Given the description of an element on the screen output the (x, y) to click on. 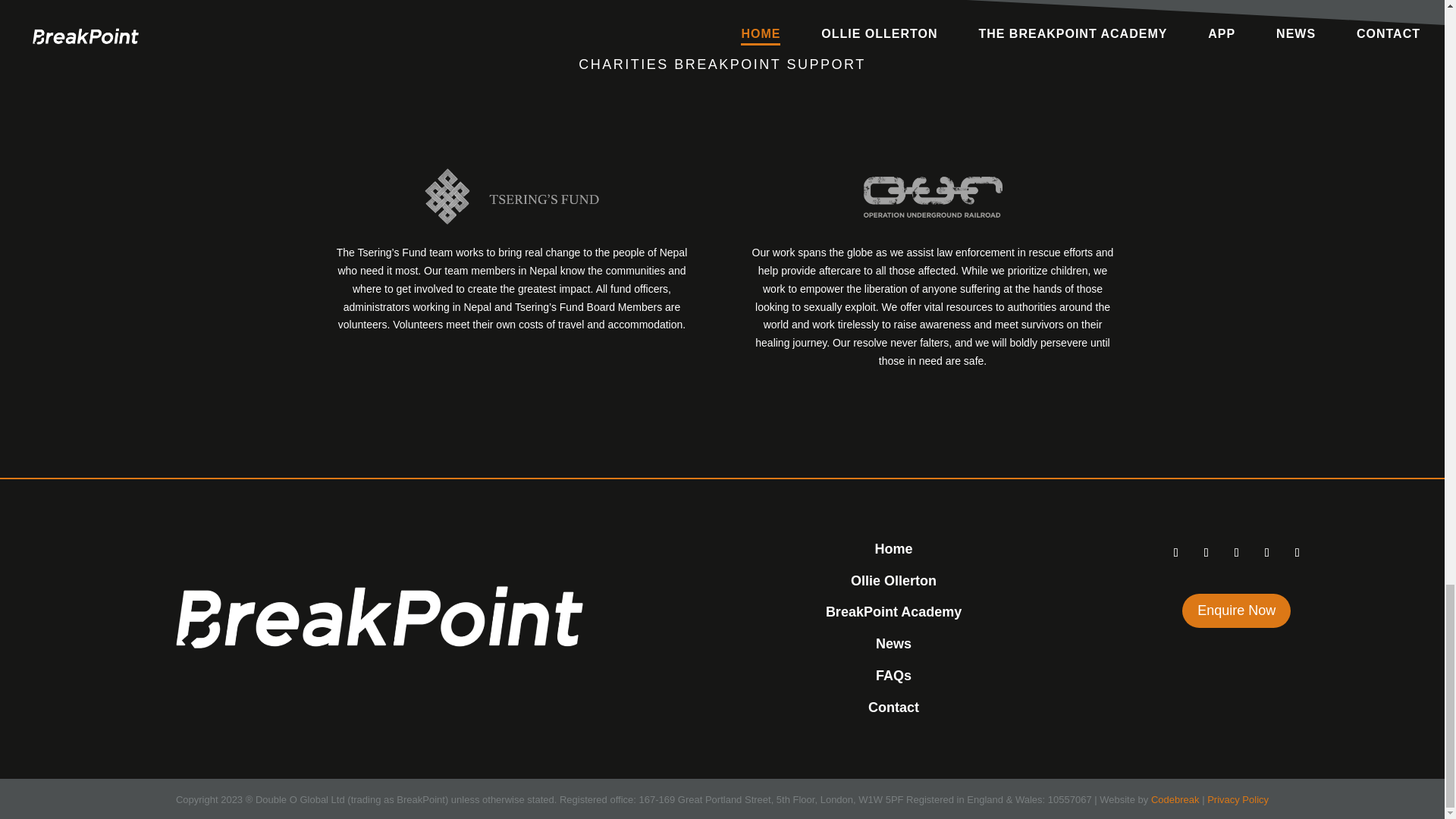
FAQs (893, 675)
Privacy Policy (1237, 799)
Contact (892, 707)
Follow on LinkedIn (1296, 552)
Codebreak (1175, 799)
Follow on Instagram (1236, 552)
Home (893, 548)
News (893, 643)
BreakPoint Academy (892, 611)
Follow on Youtube (1267, 552)
Ollie Ollerton (893, 580)
Follow on Facebook (1175, 552)
Follow on X (1205, 552)
Enquire Now (1236, 610)
